Given the description of an element on the screen output the (x, y) to click on. 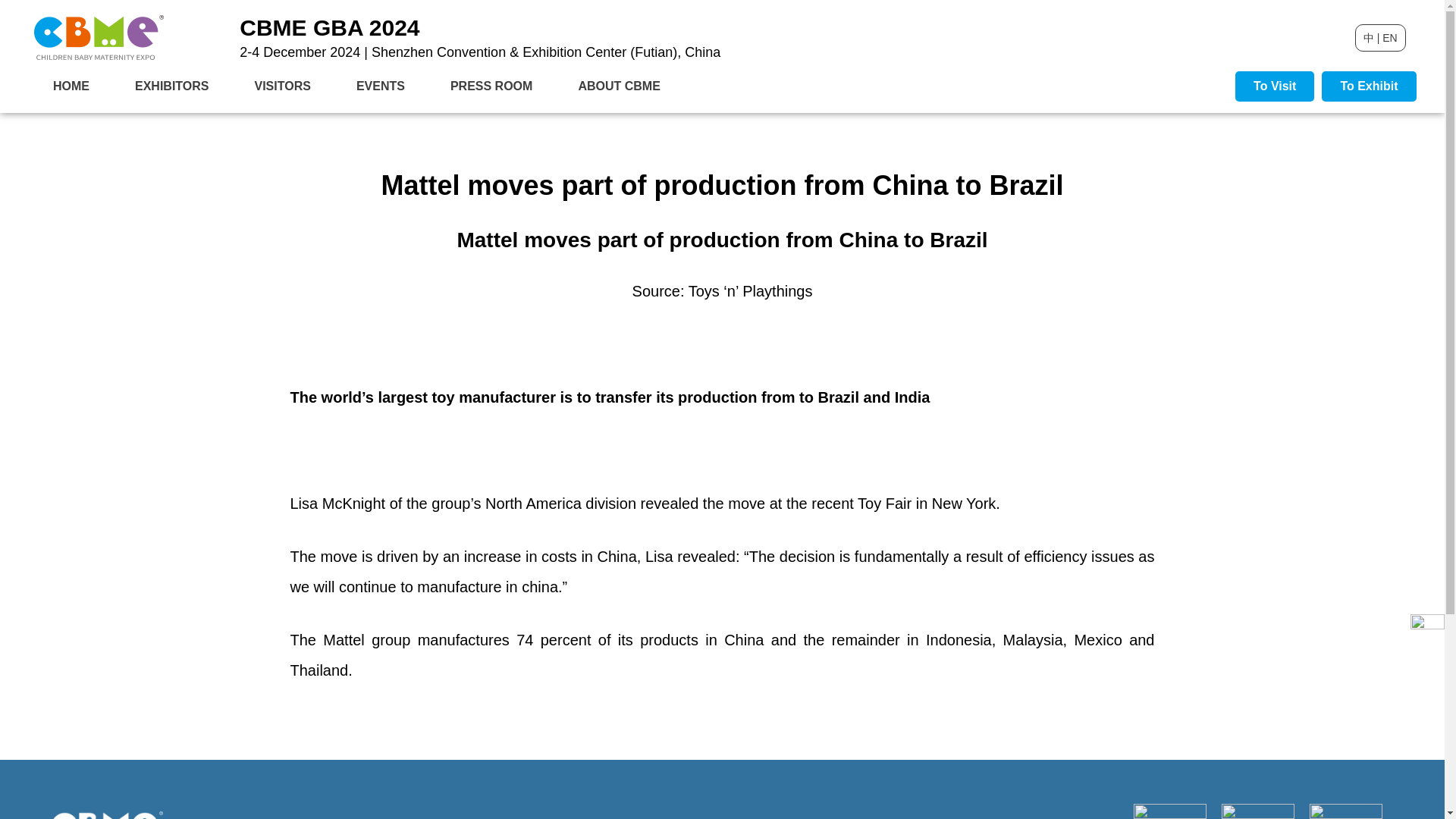
VISITORS (282, 86)
To Visit (1274, 86)
ABOUT CBME (618, 86)
To Exhibit (1368, 86)
HOME (71, 86)
EVENTS (380, 86)
EXHIBITORS (171, 86)
PRESS ROOM (491, 86)
EN (1388, 37)
